Given the description of an element on the screen output the (x, y) to click on. 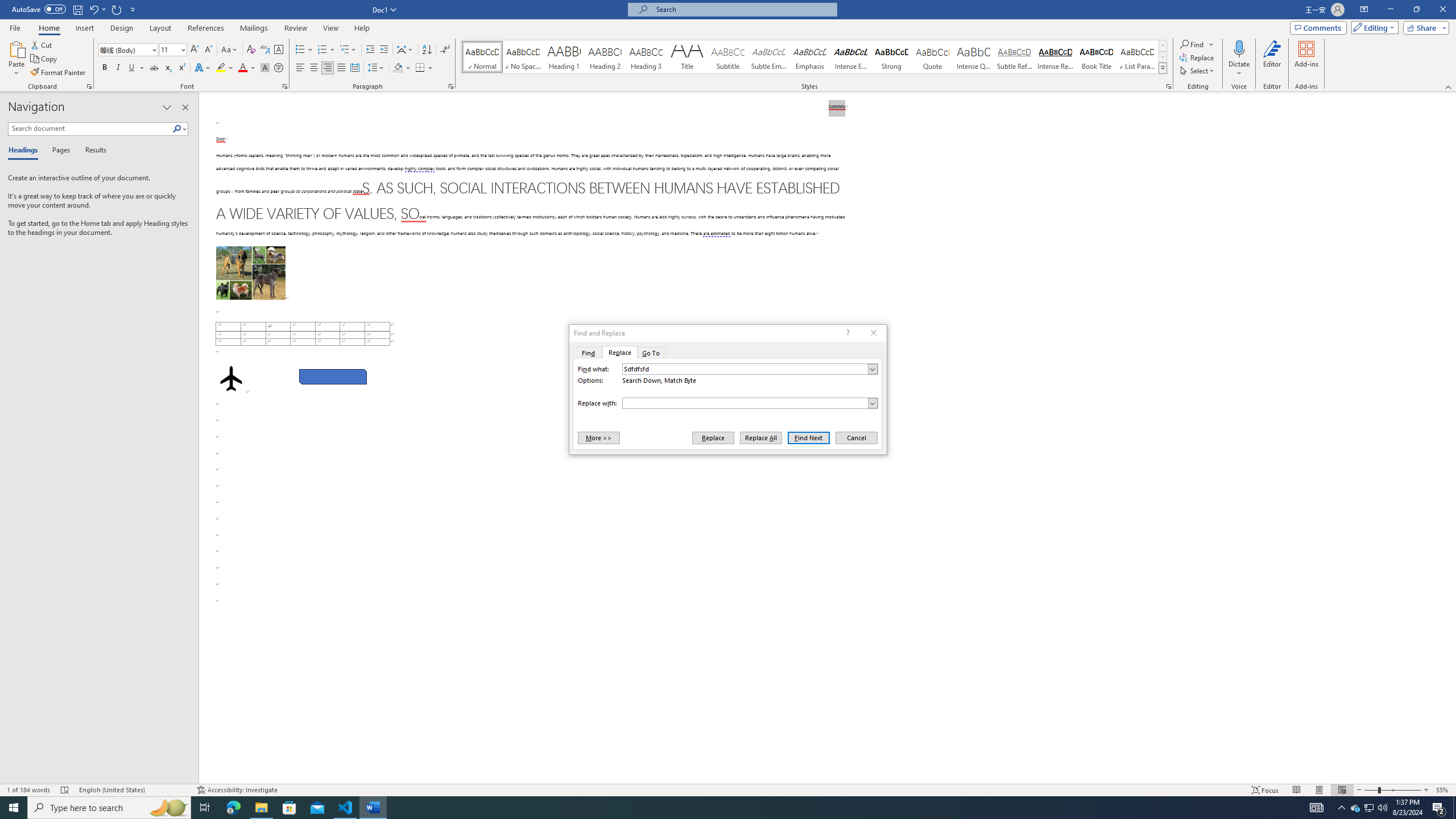
Restore Down (1416, 9)
Results (91, 150)
Row up (1162, 45)
Decrease Indent (370, 49)
Focus  (1265, 790)
Search document (89, 128)
System (6, 6)
Class: NetUIScrollBar (1450, 437)
Repeat Paragraph Alignment (117, 9)
Editor (1272, 58)
Enclose Characters... (278, 67)
Bullets (300, 49)
Office Clipboard... (88, 85)
Font Color Red (241, 67)
